Given the description of an element on the screen output the (x, y) to click on. 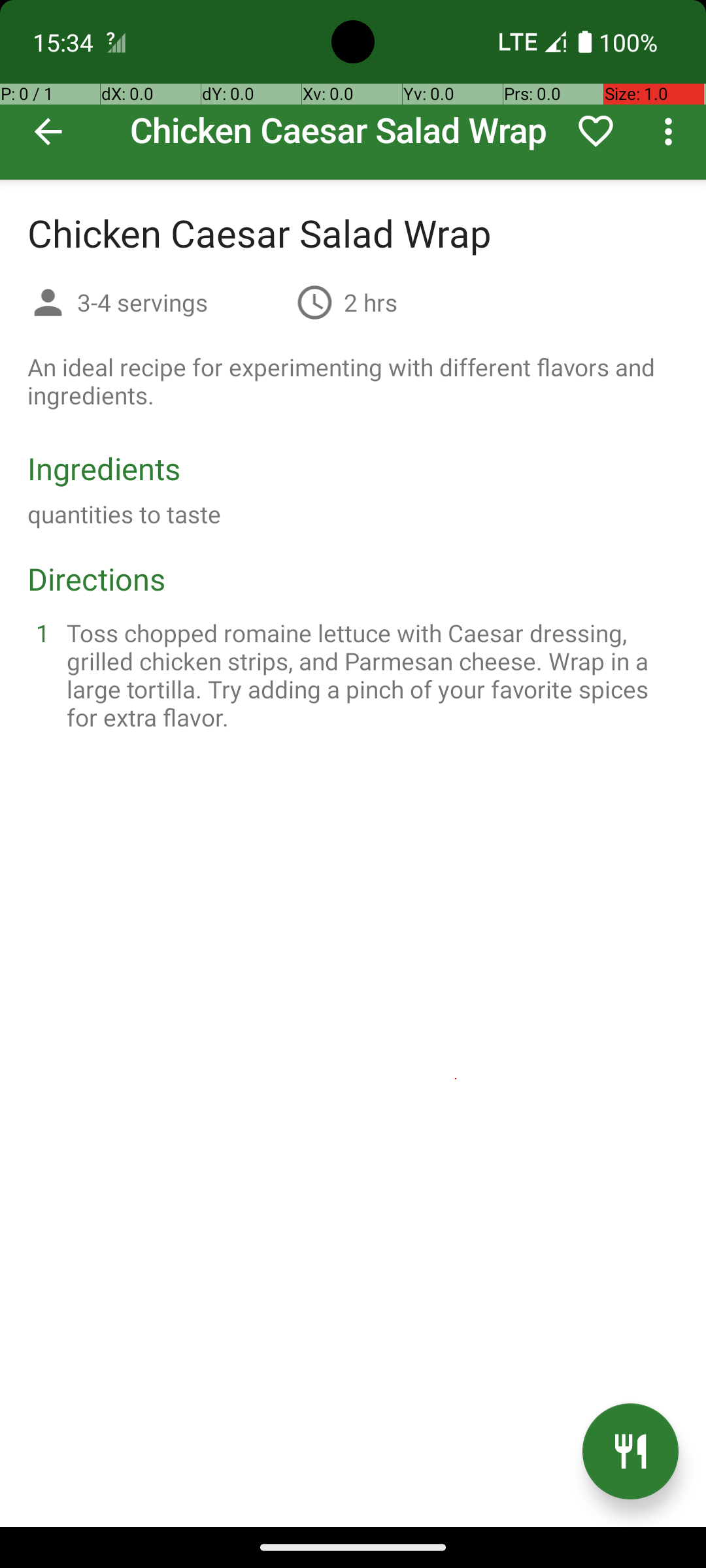
Toss chopped romaine lettuce with Caesar dressing, grilled chicken strips, and Parmesan cheese. Wrap in a large tortilla. Try adding a pinch of your favorite spices for extra flavor. Element type: android.widget.TextView (368, 674)
